Given the description of an element on the screen output the (x, y) to click on. 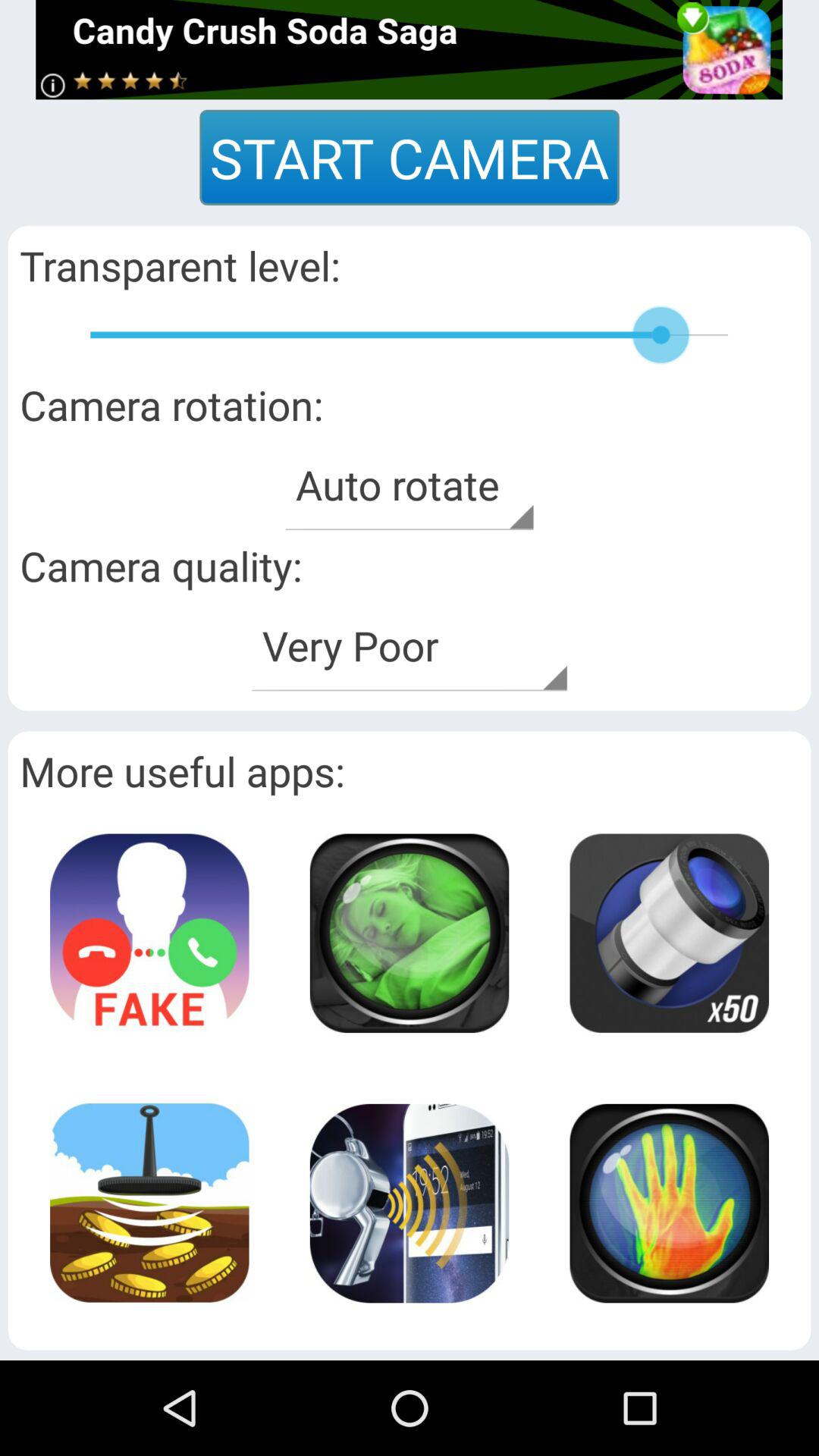
light setting (668, 932)
